Given the description of an element on the screen output the (x, y) to click on. 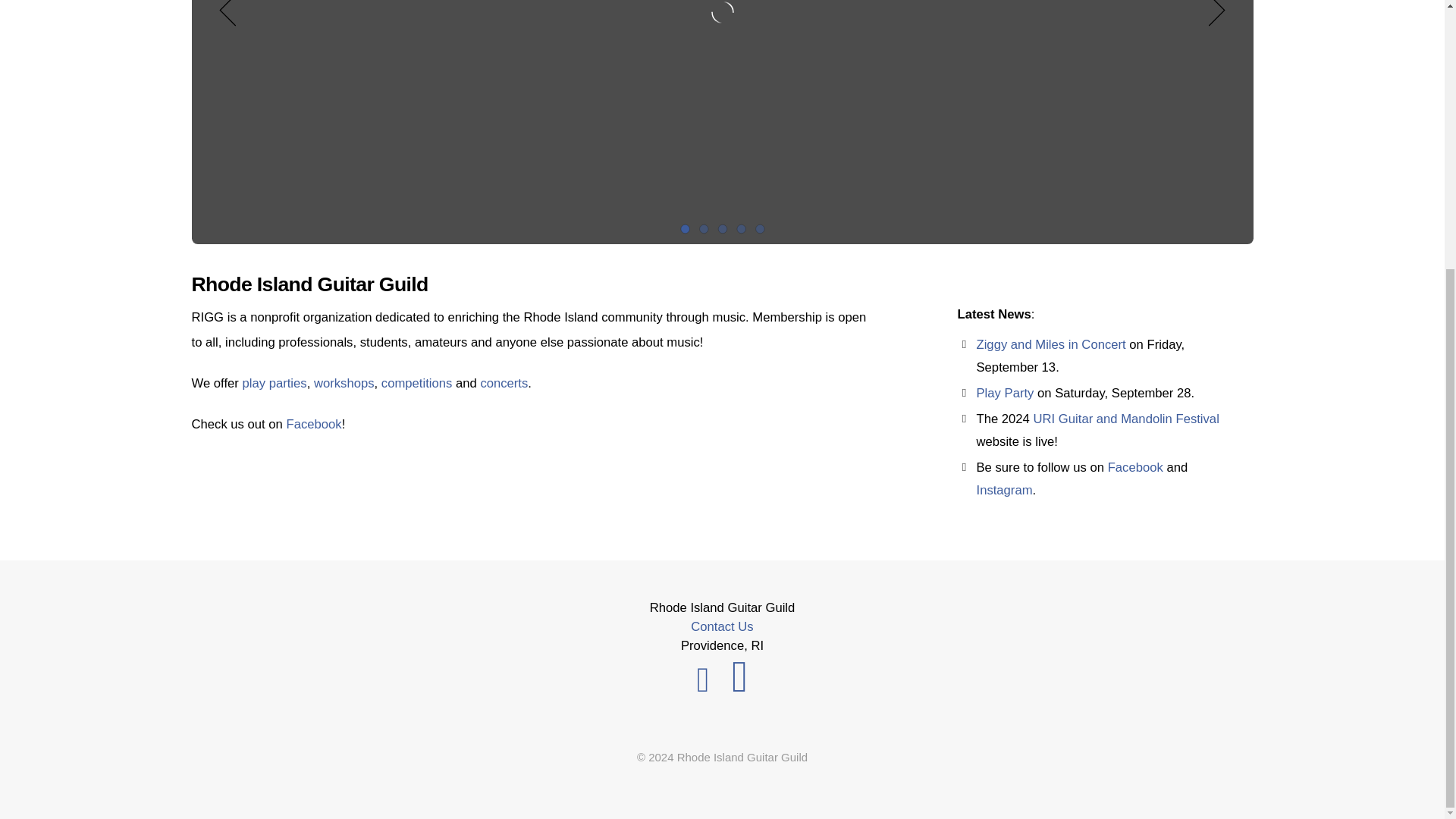
competitions (416, 382)
Ziggy and Miles in Concert (1050, 344)
Contact Us (721, 626)
Facebook (1135, 467)
workshops (344, 382)
URI Guitar and Mandolin Festival (1126, 418)
Play Party (1004, 392)
concerts (503, 382)
play parties (273, 382)
Facebook (314, 423)
